Given the description of an element on the screen output the (x, y) to click on. 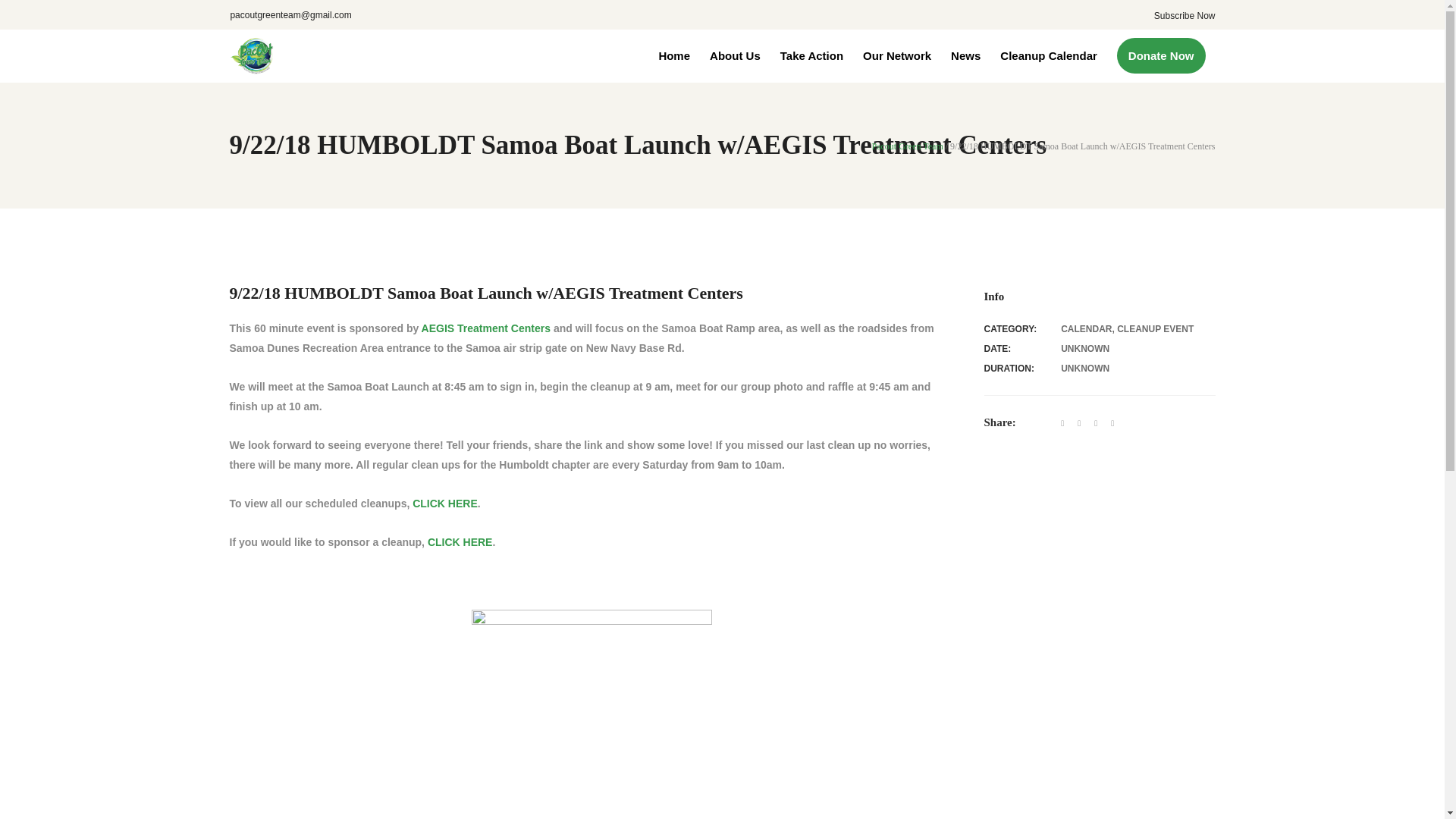
Our Network (896, 55)
Donate Now (1160, 55)
Take Action (811, 55)
Cleanup Calendar (1048, 55)
Subscribe Now (1184, 15)
About Us (735, 55)
News (965, 55)
Home (673, 55)
